Given the description of an element on the screen output the (x, y) to click on. 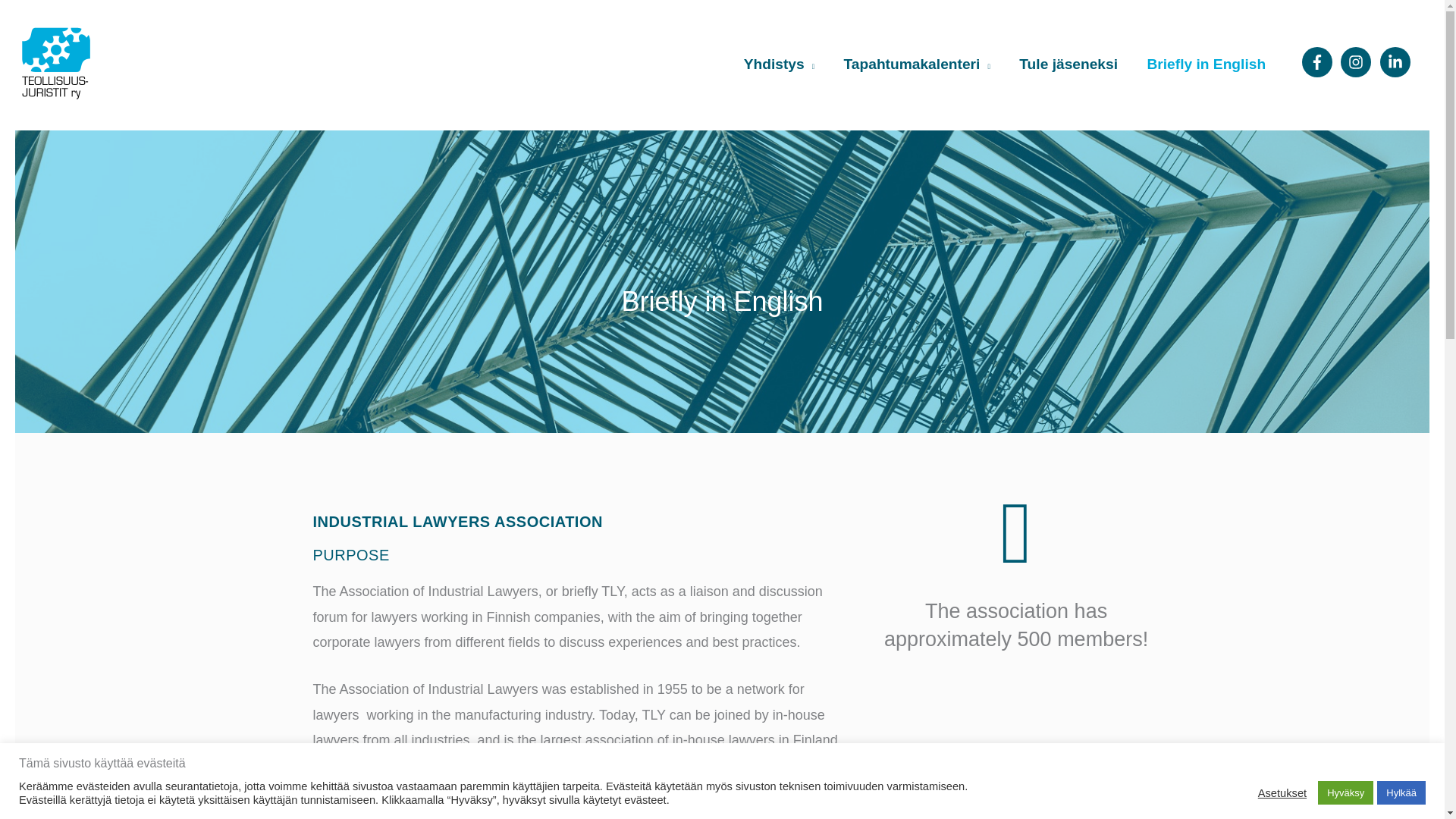
Tapahtumakalenteri (916, 65)
Briefly in English (1205, 65)
Yhdistys (778, 65)
Asetukset (1281, 792)
